Given the description of an element on the screen output the (x, y) to click on. 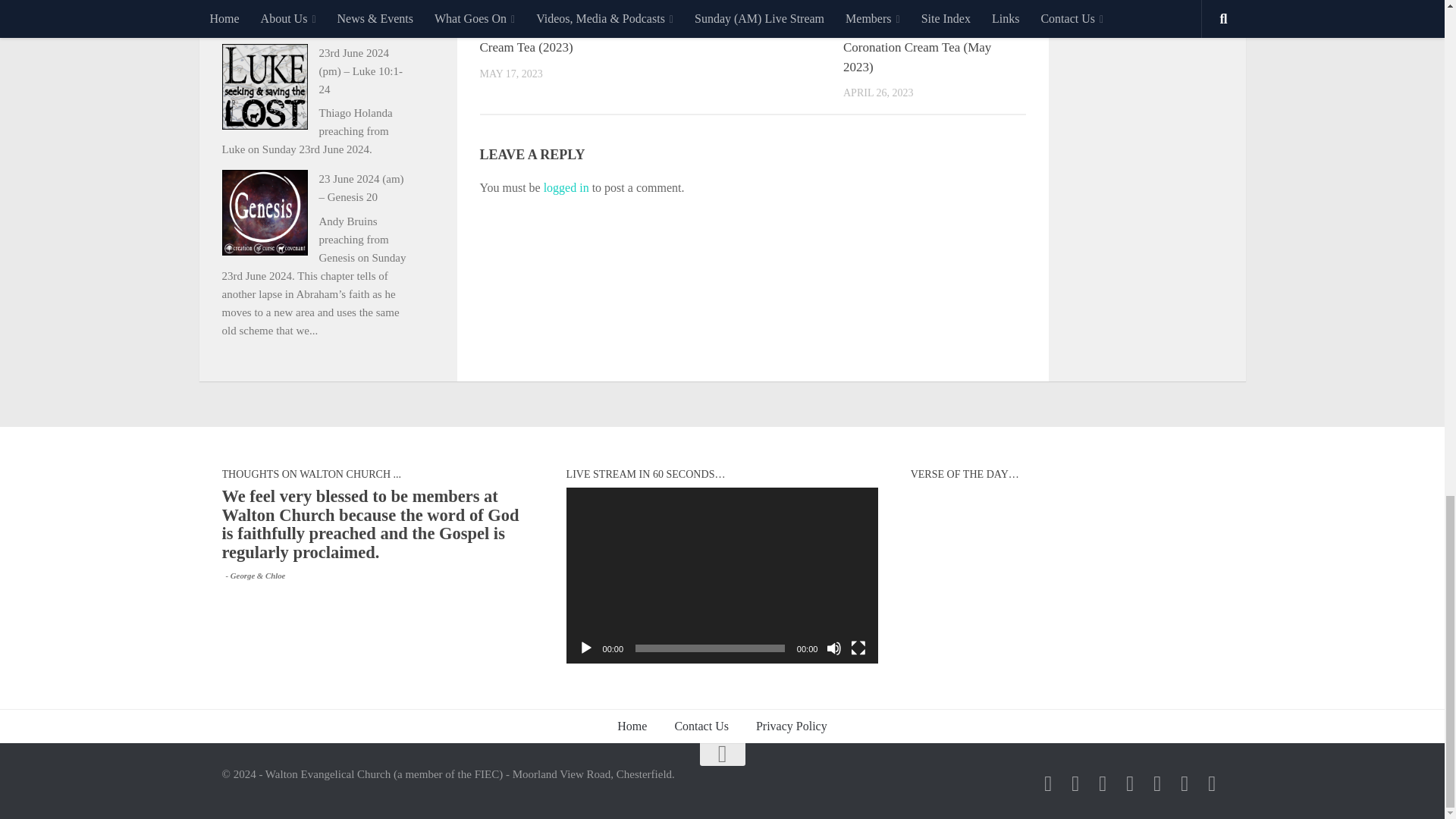
Mute (834, 648)
Fullscreen (858, 648)
Play (586, 648)
